Given the description of an element on the screen output the (x, y) to click on. 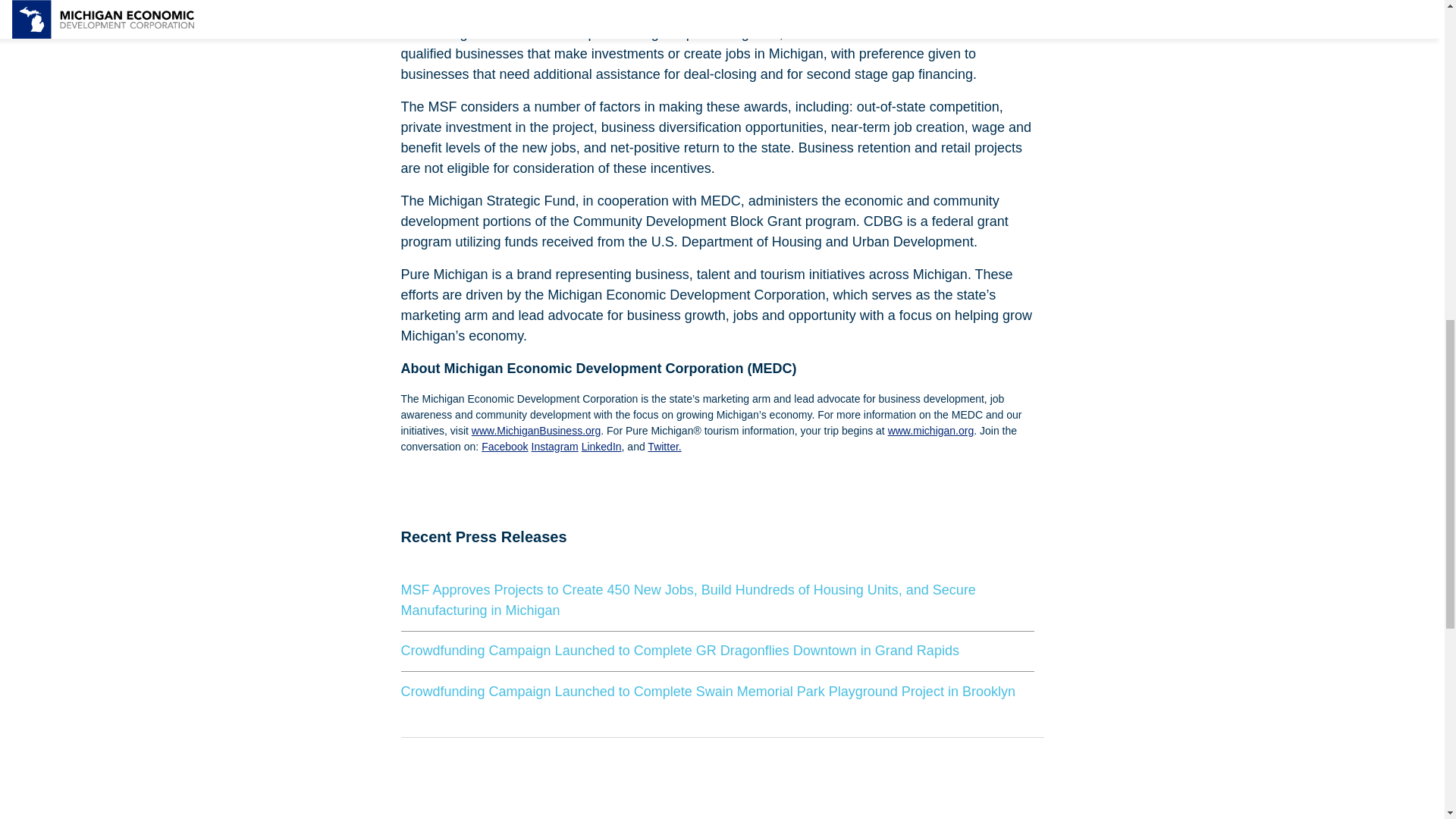
www.MichiganBusiness.org (535, 430)
Facebook (504, 446)
www.foriauto.com (653, 4)
www.michigan.org (931, 430)
www.foriauto.com (653, 4)
